Given the description of an element on the screen output the (x, y) to click on. 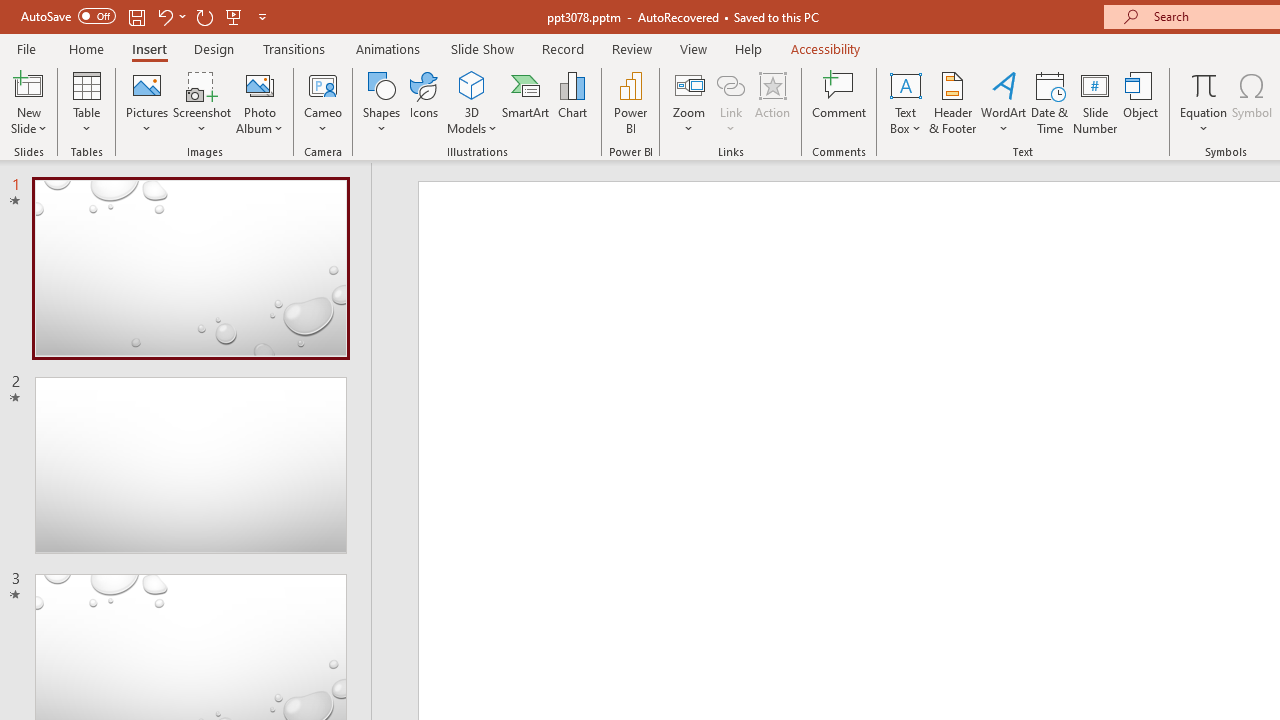
3D Models (472, 84)
Power BI (630, 102)
3D Models (472, 102)
Date & Time... (1050, 102)
Object... (1141, 102)
Table (86, 102)
